Given the description of an element on the screen output the (x, y) to click on. 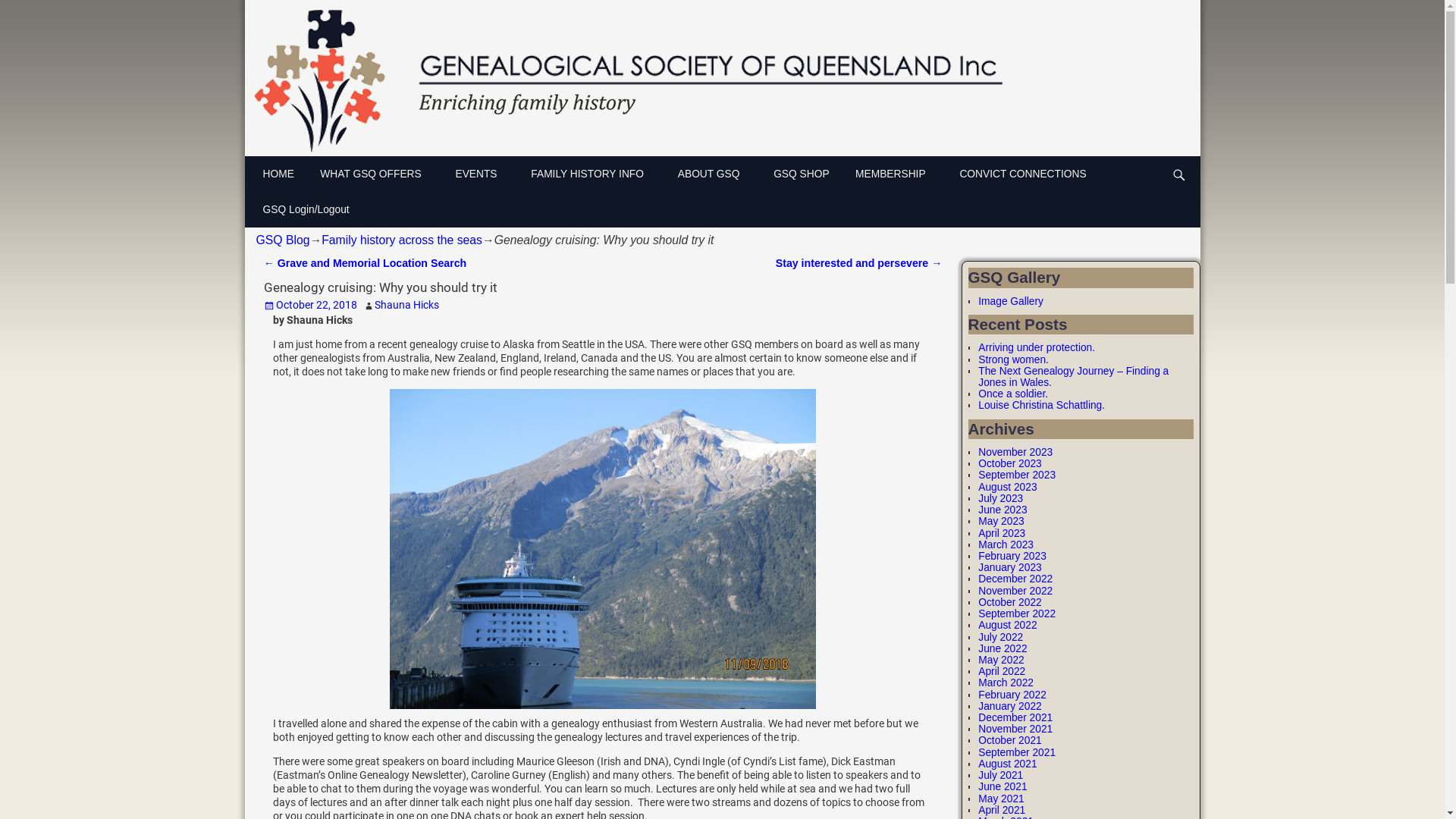
WHAT GSQ OFFERS Element type: text (379, 173)
February 2022 Element type: text (1012, 694)
EVENTS Element type: text (485, 173)
July 2021 Element type: text (1000, 775)
September 2021 Element type: text (1016, 752)
HOME Element type: text (283, 173)
June 2023 Element type: text (1002, 509)
CONVICT CONNECTIONS Element type: text (1027, 173)
March 2023 Element type: text (1005, 544)
Louise Christina Schattling. Element type: text (1041, 405)
May 2022 Element type: text (1000, 659)
December 2022 Element type: text (1015, 578)
Shauna Hicks Element type: text (406, 304)
May 2023 Element type: text (1000, 521)
November 2021 Element type: text (1015, 728)
July 2023 Element type: text (1000, 498)
Arriving under protection. Element type: text (1036, 347)
January 2023 Element type: text (1009, 567)
April 2022 Element type: text (1001, 671)
August 2021 Element type: text (1007, 763)
Once a soldier. Element type: text (1013, 393)
MEMBERSHIP Element type: text (899, 173)
April 2021 Element type: text (1001, 809)
GSQ Blog Element type: text (283, 239)
August 2022 Element type: text (1007, 624)
September 2023 Element type: text (1016, 474)
Family history across the seas Element type: text (401, 239)
March 2022 Element type: text (1005, 682)
December 2021 Element type: text (1015, 717)
September 2022 Element type: text (1016, 613)
October 22, 2018 Element type: text (310, 304)
FAMILY HISTORY INFO Element type: text (596, 173)
May 2021 Element type: text (1000, 798)
October 2022 Element type: text (1009, 602)
February 2023 Element type: text (1012, 555)
ABOUT GSQ Element type: text (717, 173)
June 2022 Element type: text (1002, 648)
August 2023 Element type: text (1007, 486)
Image Gallery Element type: text (1010, 301)
GSQ Login/Logout Element type: text (310, 209)
November 2023 Element type: text (1015, 452)
July 2022 Element type: text (1000, 636)
October 2023 Element type: text (1009, 463)
November 2022 Element type: text (1015, 590)
October 2021 Element type: text (1009, 740)
April 2023 Element type: text (1001, 533)
June 2021 Element type: text (1002, 786)
Strong women. Element type: text (1013, 359)
January 2022 Element type: text (1009, 706)
GSQ SHOP Element type: text (806, 173)
